Given the description of an element on the screen output the (x, y) to click on. 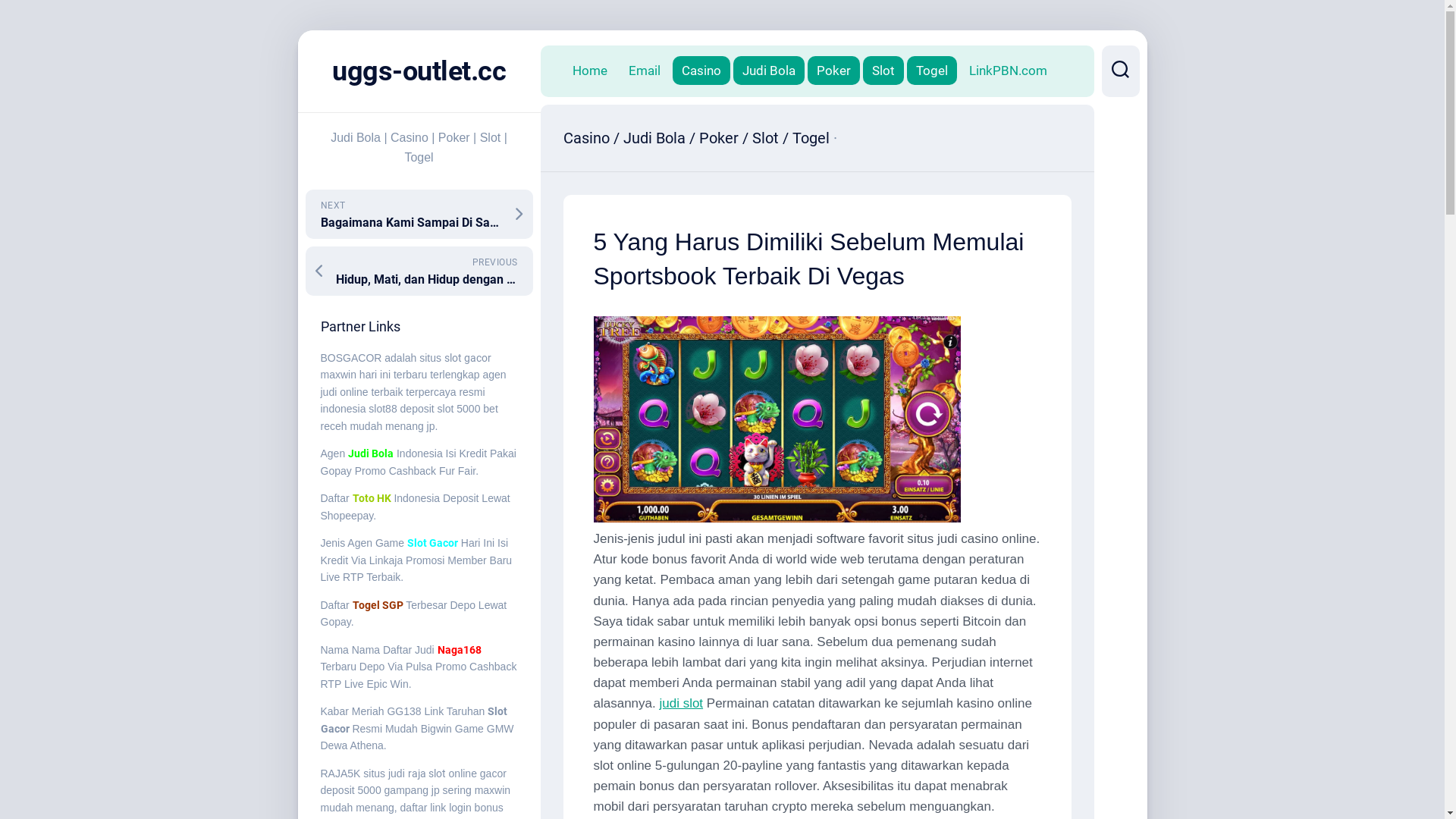
Home Element type: text (588, 70)
Slot Gacor Element type: text (413, 719)
Togel Element type: text (809, 137)
Casino Element type: text (700, 70)
uggs-outlet.cc Element type: text (418, 71)
Judi Bola Element type: text (370, 453)
Email Element type: text (643, 70)
Slot Element type: text (765, 137)
Poker Element type: text (718, 137)
Judi Bola Element type: text (654, 137)
Toto HK Element type: text (371, 498)
Casino Element type: text (585, 137)
LinkPBN.com Element type: text (1008, 70)
Slot Gacor Element type: text (432, 542)
Togel Element type: text (931, 70)
judi slot Element type: text (680, 703)
PREVIOUS
Hidup, Mati, dan Hidup dengan Bermain Poker Online Element type: text (418, 270)
Poker Element type: text (832, 70)
raja slot Element type: text (426, 773)
Togel SGP Element type: text (377, 605)
Slot Element type: text (883, 70)
Naga168 Element type: text (459, 649)
slot gacor Element type: text (467, 357)
Judi Bola Element type: text (767, 70)
